Given the description of an element on the screen output the (x, y) to click on. 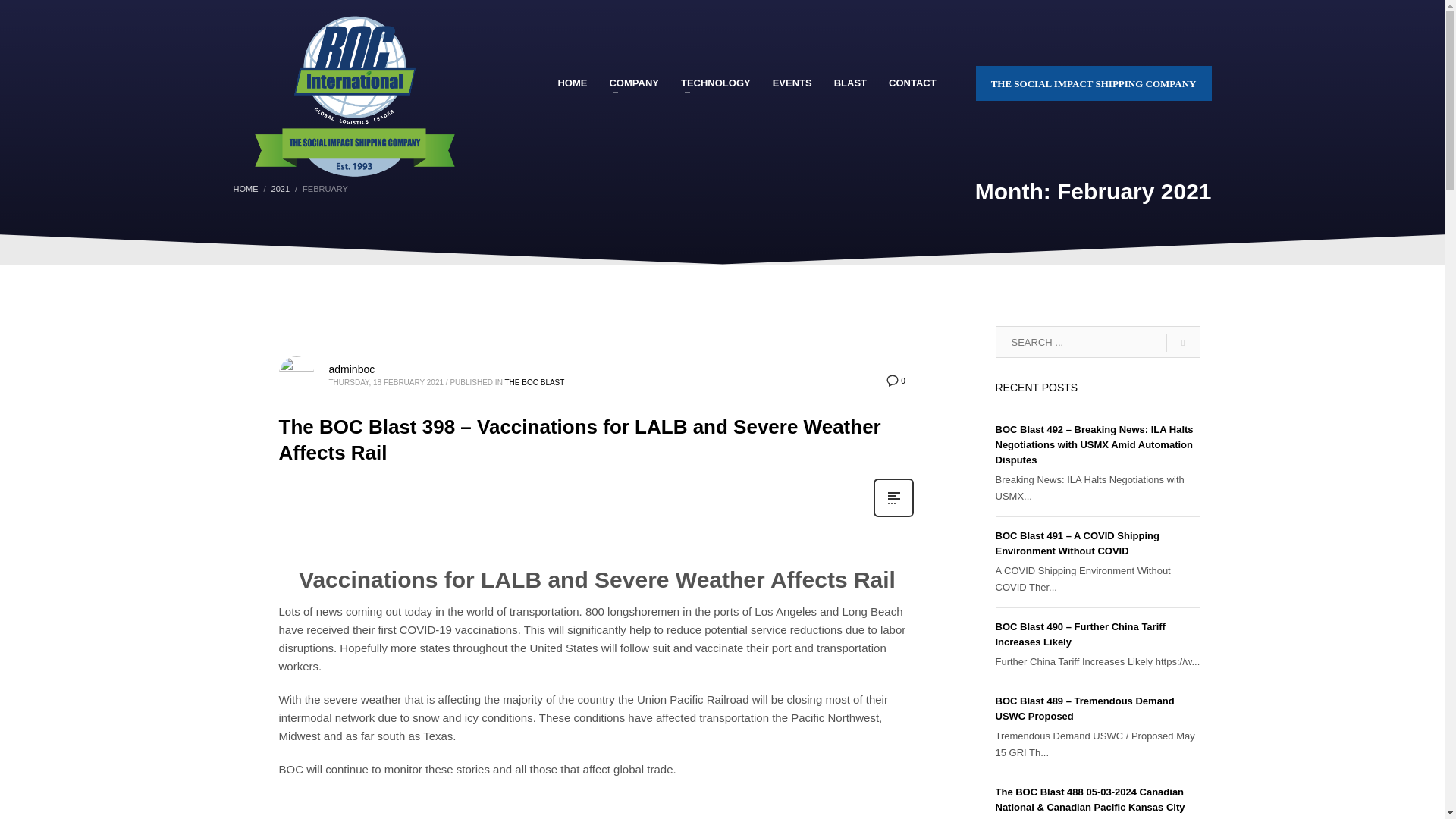
HOME (245, 188)
Global Logistics Leader (354, 98)
EVENTS (791, 83)
THE SOCIAL IMPACT SHIPPING COMPANY (1093, 82)
COMPANY (632, 83)
Read more (892, 515)
Social Impact (1093, 82)
go (1182, 342)
No Comments (895, 380)
CONTACT (911, 83)
HOME (571, 83)
THE BOC BLAST (533, 382)
0 (895, 380)
Posts by adminboc (352, 369)
BLAST (850, 83)
